Given the description of an element on the screen output the (x, y) to click on. 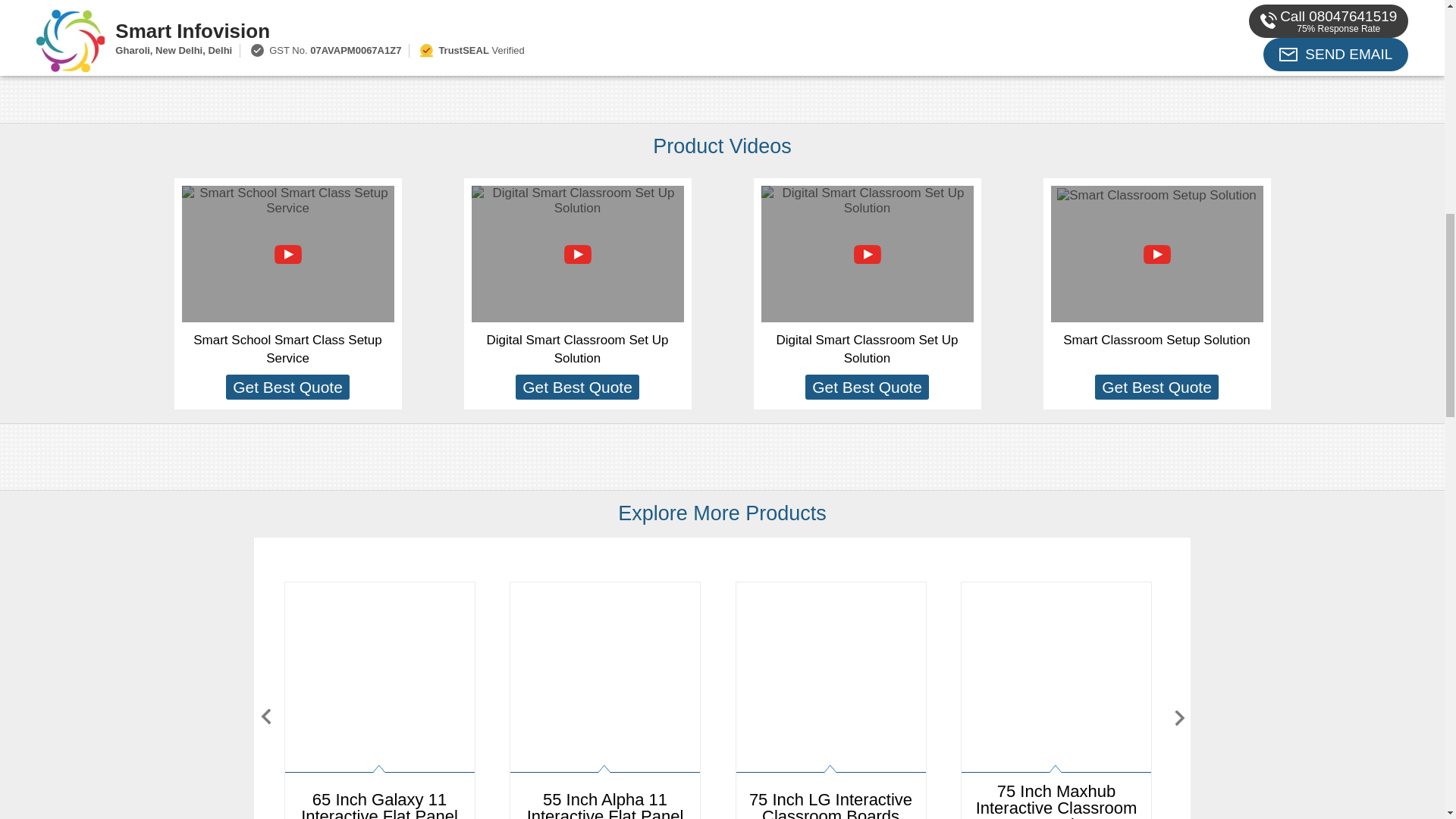
75 Inch Maxhub Interactive Classroom Boards (1055, 700)
65 Inch Galaxy 11 Interactive Flat Panel (379, 700)
Smart Classroom Setup Solution (1156, 339)
75 Inch LG Interactive Classroom Boards (829, 700)
Smart School Smart Class Setup Service (287, 348)
55 Inch Alpha 11 Interactive Flat Panel (605, 700)
Digital Smart Classroom Set Up Solution (577, 348)
Digital Smart Classroom Set Up Solution (867, 348)
